Given the description of an element on the screen output the (x, y) to click on. 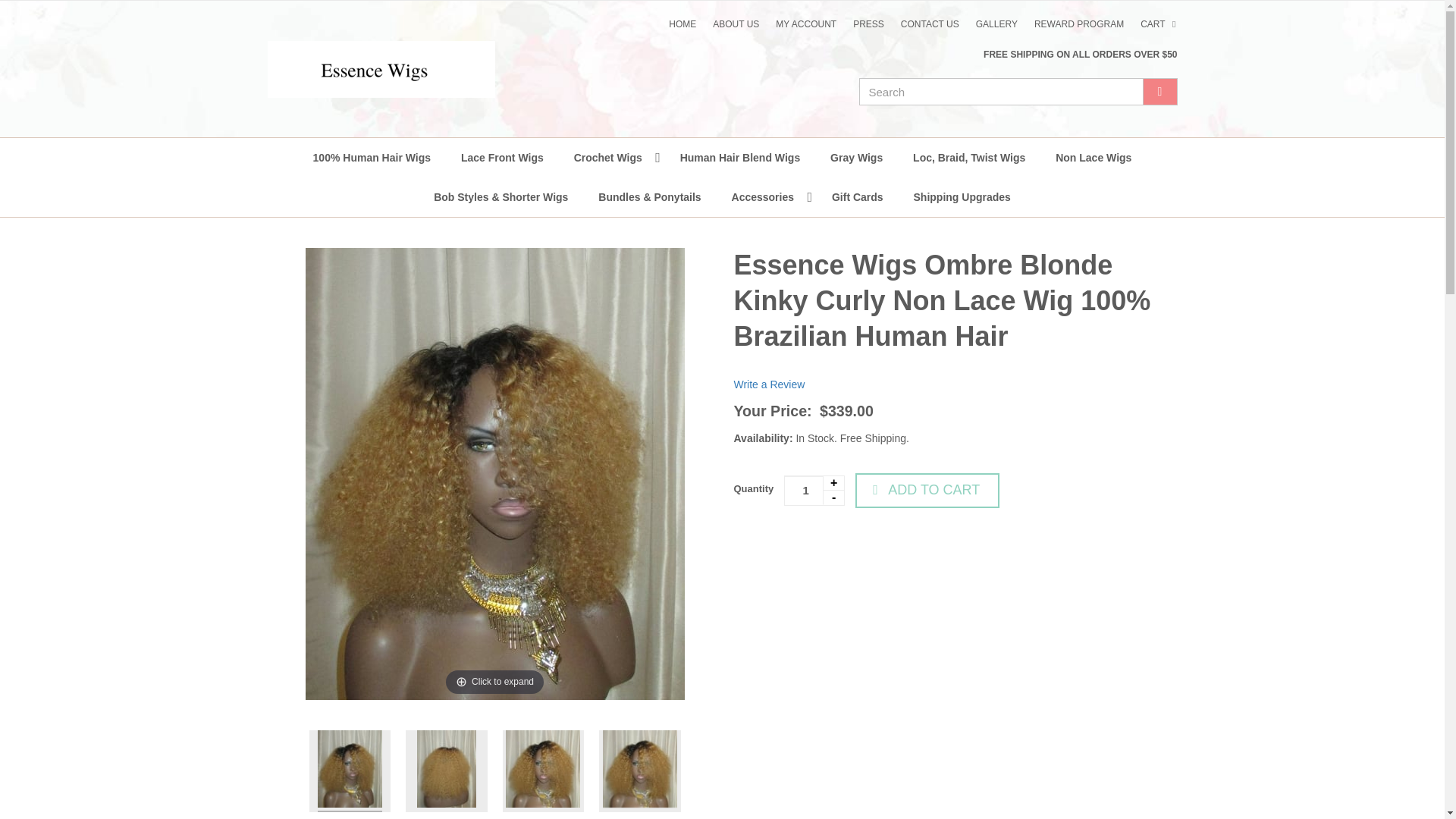
HOME (682, 24)
1 (814, 490)
Non Lace Wigs (1093, 157)
Shipping Upgrades (962, 197)
Gift Cards (857, 197)
CONTACT US (930, 24)
GALLERY (997, 24)
Loc, Braid, Twist Wigs (969, 157)
MY ACCOUNT (805, 24)
Lace Front Wigs (501, 157)
REWARD PROGRAM (1079, 24)
Gray Wigs (856, 157)
Human Hair Blend Wigs (739, 157)
